Given the description of an element on the screen output the (x, y) to click on. 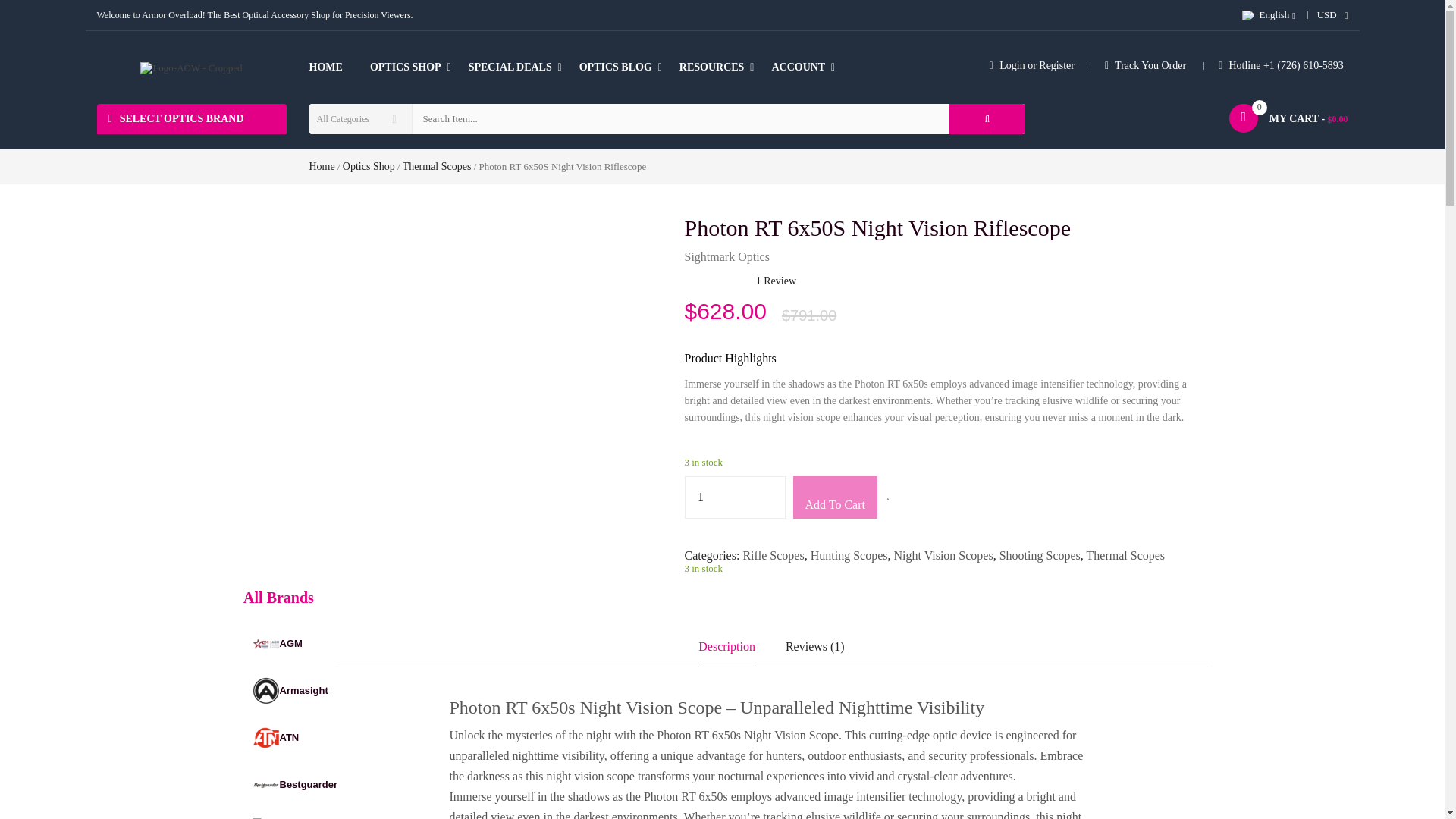
SPECIAL DEALS (510, 67)
OPTICS SHOP (405, 67)
USD (1327, 15)
English (1248, 14)
HOME (332, 67)
English (1262, 15)
